Given the description of an element on the screen output the (x, y) to click on. 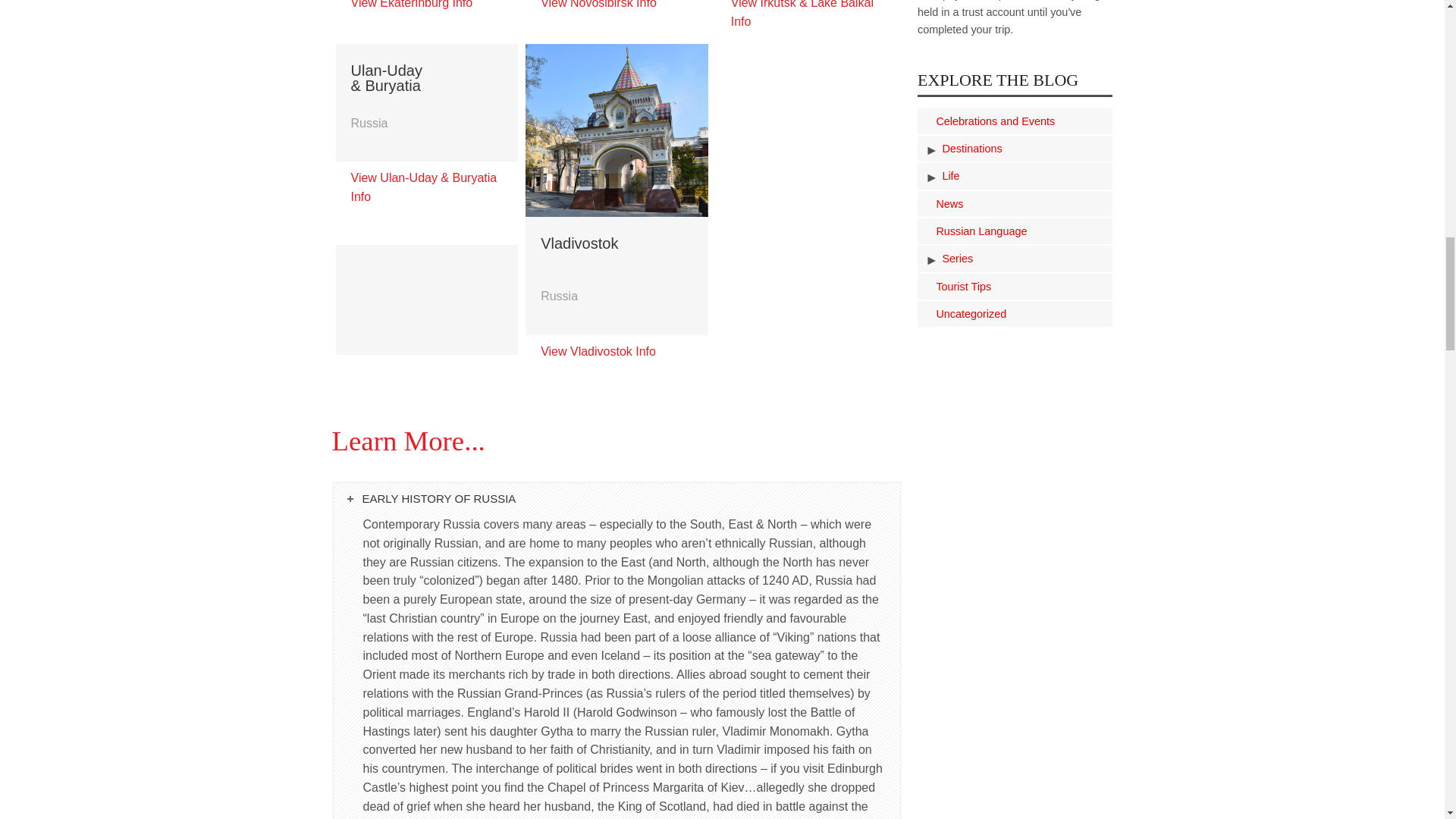
View all posts filed under Life (1074, 175)
View all posts filed under Celebrations and Events (1074, 121)
View all posts filed under Destinations (1074, 148)
View all posts filed under News (1074, 203)
View all posts filed under Russian Language (1074, 230)
